Given the description of an element on the screen output the (x, y) to click on. 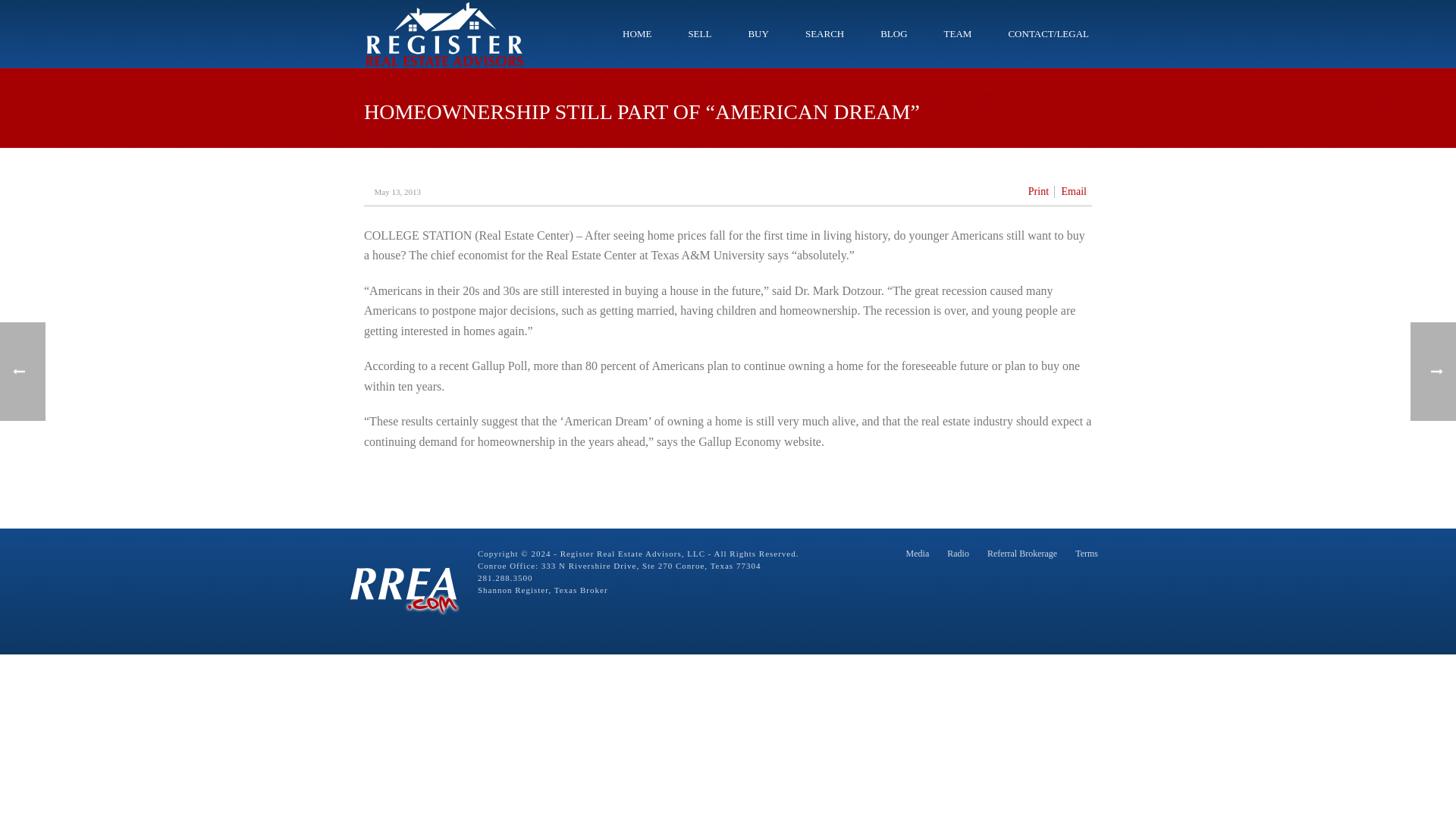
TEAM (957, 32)
HOME (636, 32)
Email (1073, 191)
SEARCH (824, 32)
BUY (757, 32)
May 13, 2013 (397, 191)
Spring Texas Real Estate (444, 33)
SELL (699, 32)
Print (1037, 191)
Terms (1086, 553)
BLOG (893, 32)
Radio (958, 553)
Referral Brokerage (1022, 553)
HOME (636, 32)
SELL (699, 32)
